Given the description of an element on the screen output the (x, y) to click on. 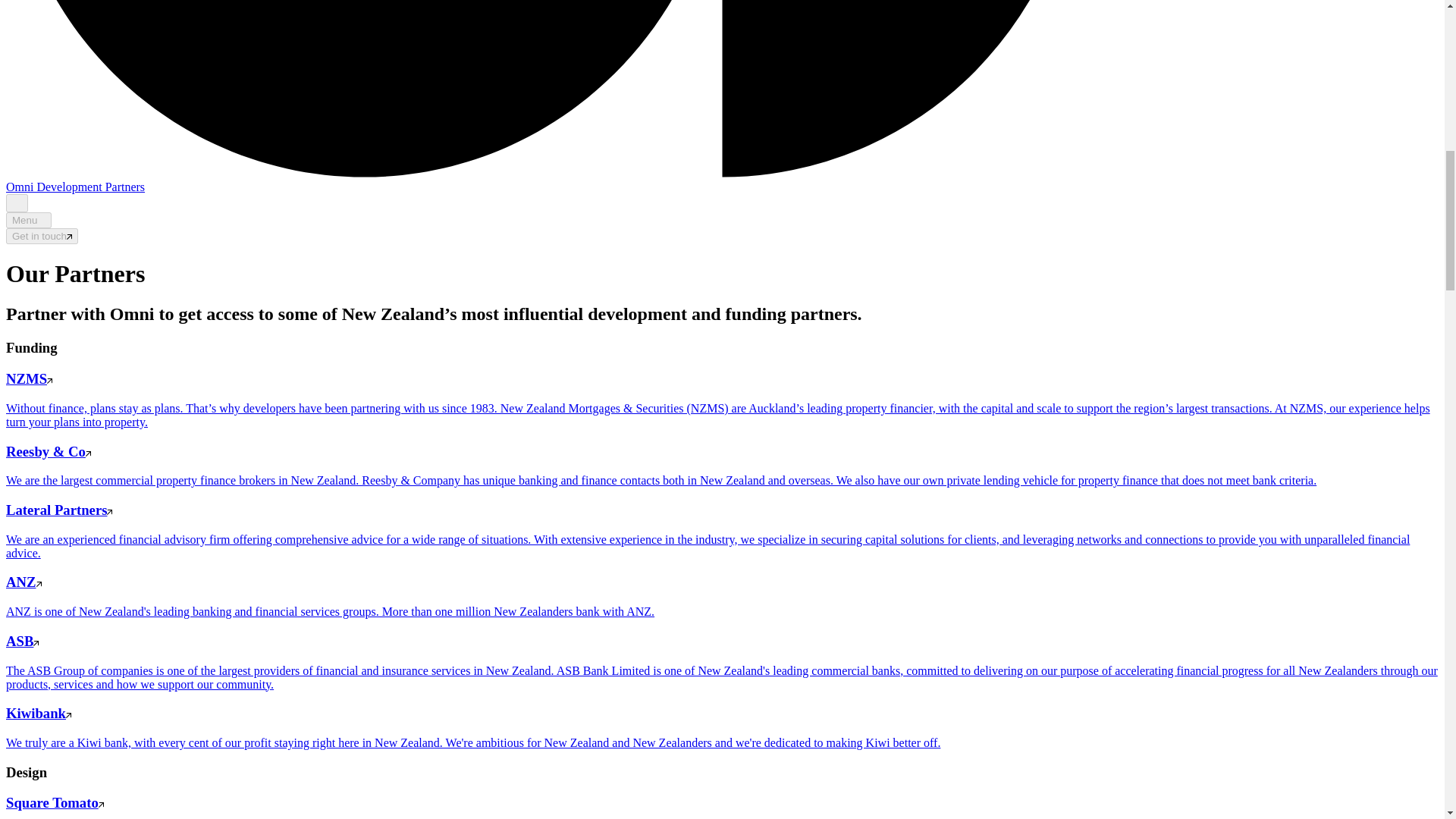
Omni Development Partners (74, 186)
Get in touch (41, 236)
Menu (27, 220)
Omni Development Partners (74, 186)
